Given the description of an element on the screen output the (x, y) to click on. 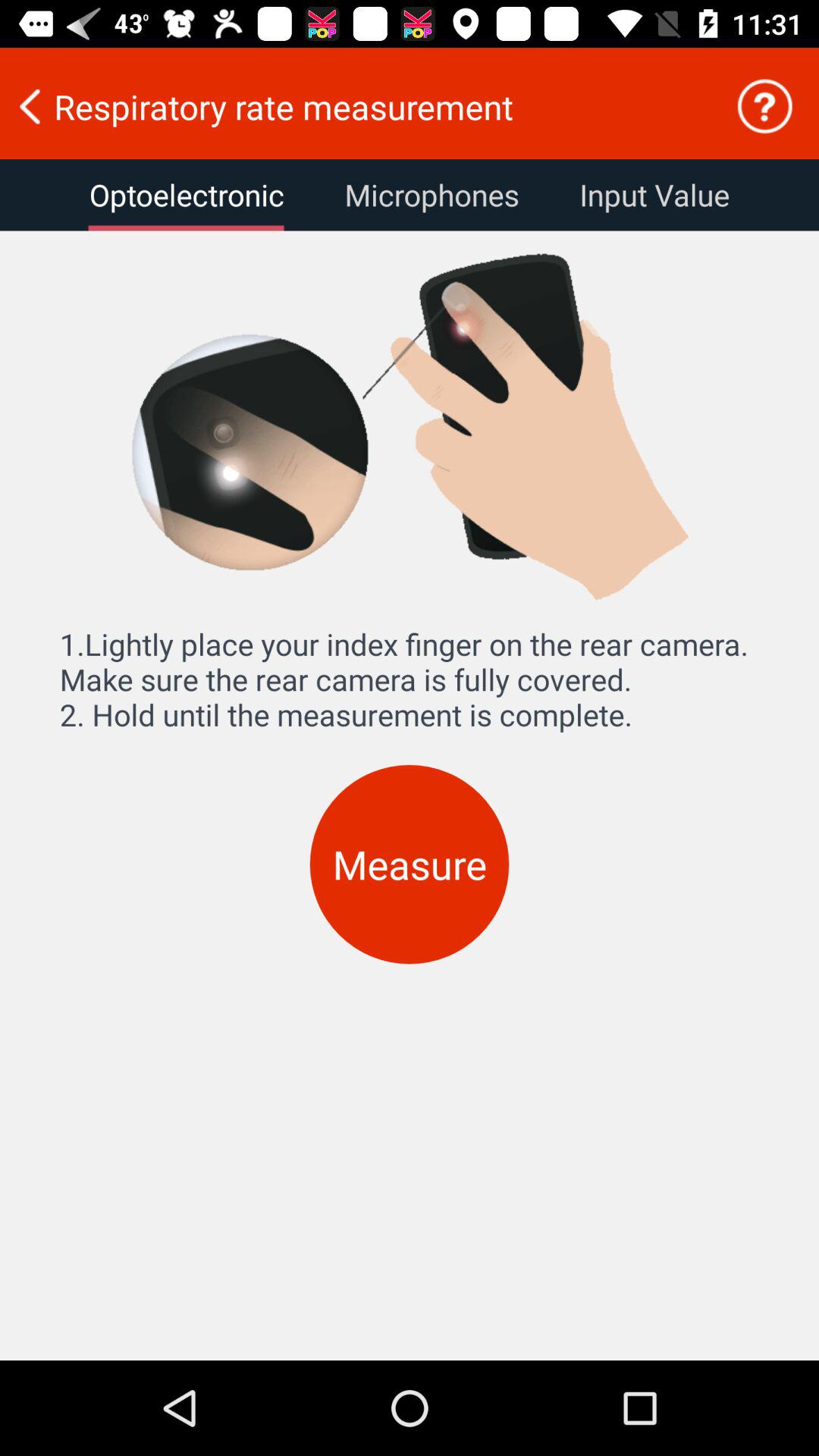
click the icon to the right of the optoelectronic (431, 194)
